Given the description of an element on the screen output the (x, y) to click on. 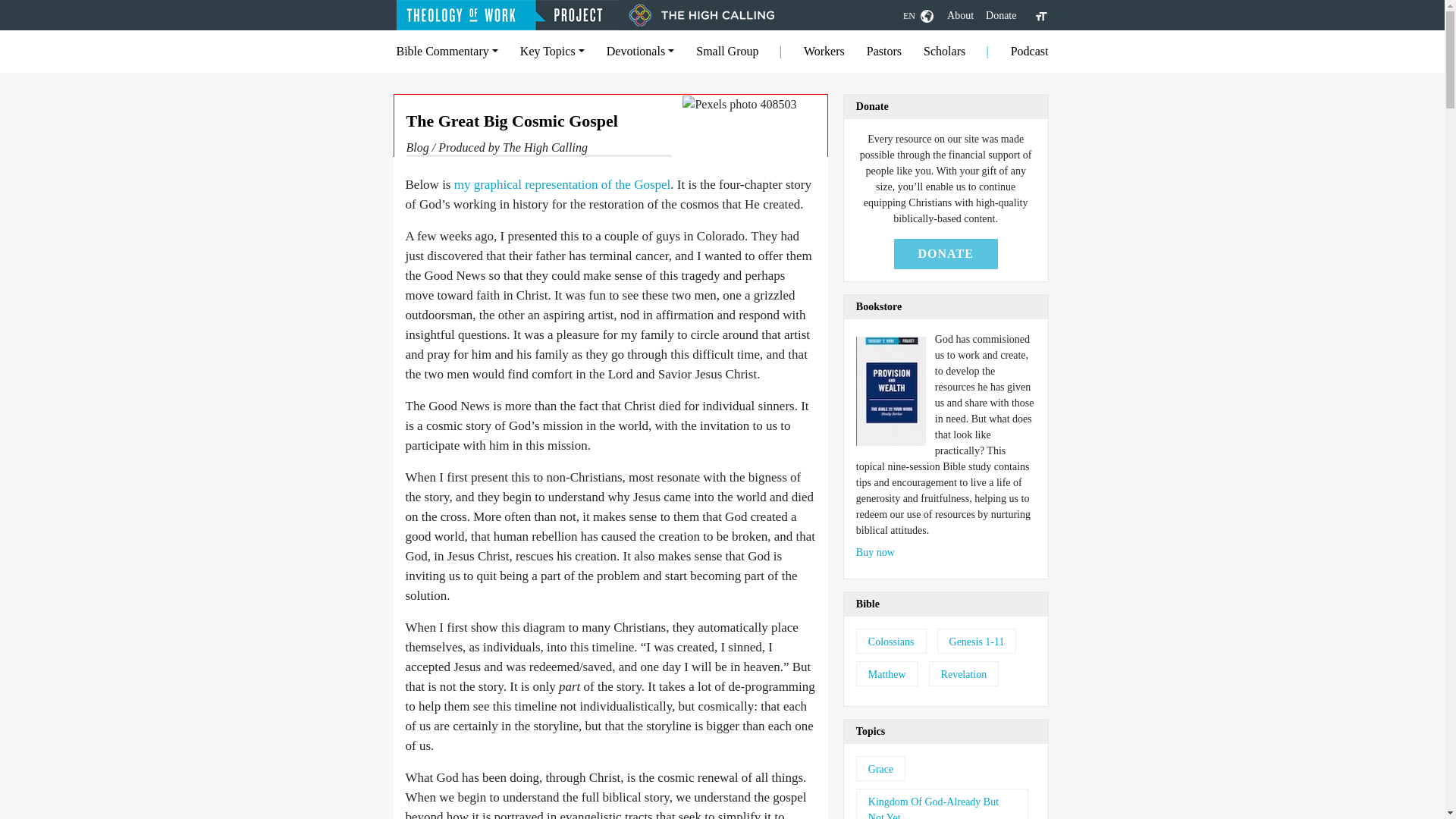
Donate (1000, 15)
Donate (1000, 15)
About (959, 15)
About (959, 15)
Bible Commentary (446, 51)
EN (917, 15)
